Given the description of an element on the screen output the (x, y) to click on. 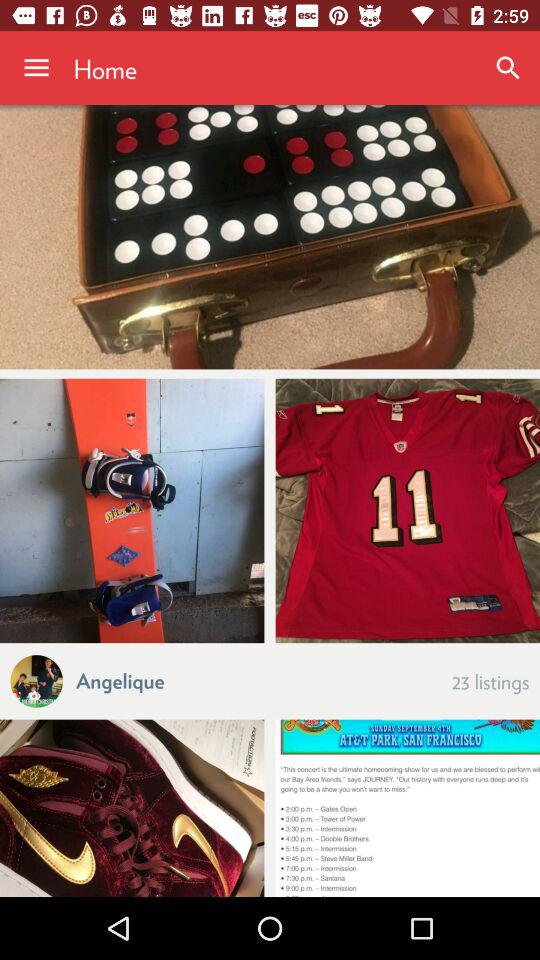
choose 23 listings icon (490, 680)
